Given the description of an element on the screen output the (x, y) to click on. 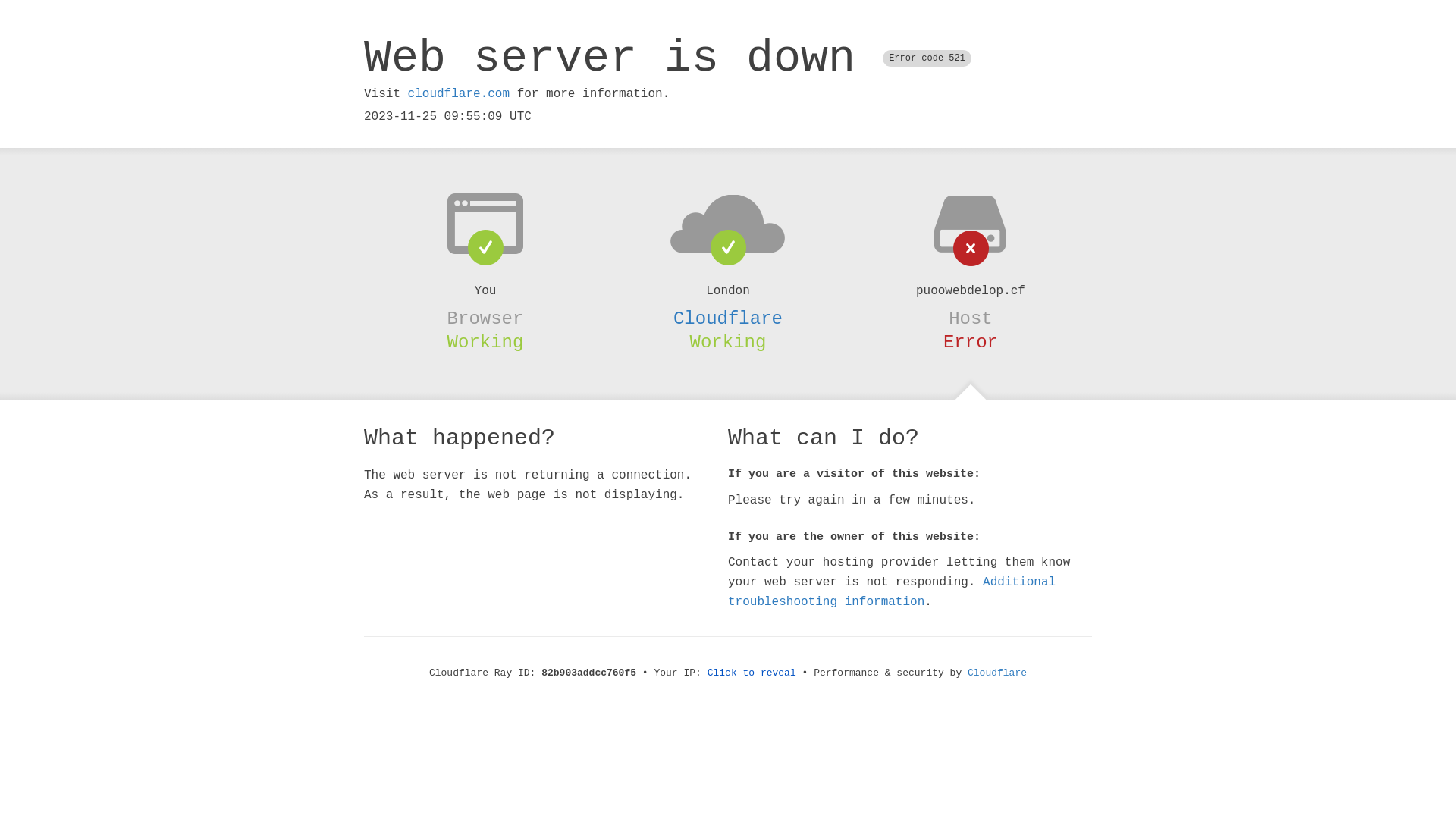
Click to reveal Element type: text (751, 672)
Cloudflare Element type: text (727, 318)
cloudflare.com Element type: text (458, 93)
Cloudflare Element type: text (996, 672)
Additional troubleshooting information Element type: text (891, 591)
